Given the description of an element on the screen output the (x, y) to click on. 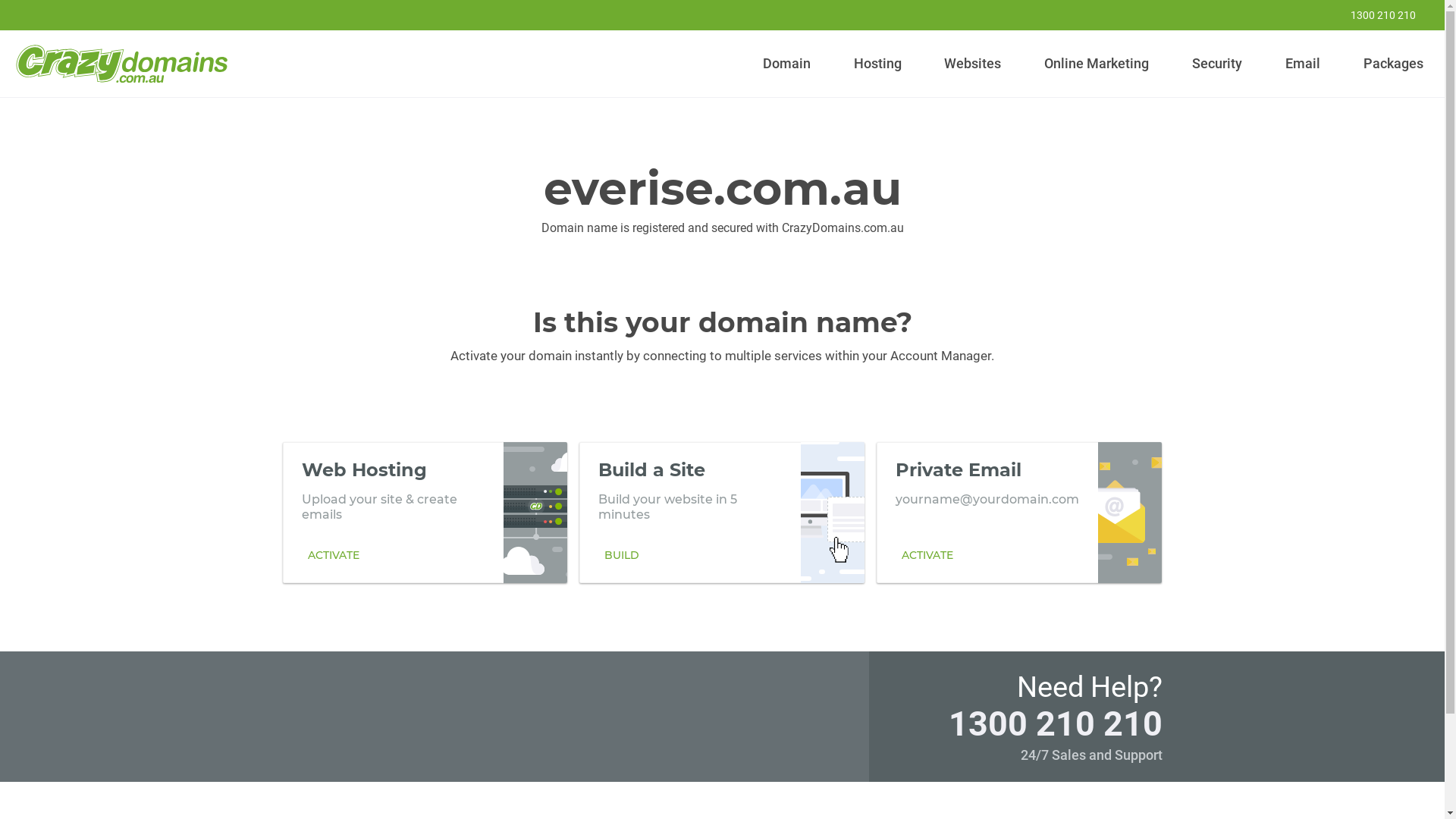
1300 210 210 Element type: text (1054, 723)
Web Hosting
Upload your site & create emails
ACTIVATE Element type: text (424, 511)
Email Element type: text (1302, 63)
Hosting Element type: text (877, 63)
Domain Element type: text (786, 63)
Private Email
yourname@yourdomain.com
ACTIVATE Element type: text (1018, 511)
Security Element type: text (1217, 63)
Build a Site
Build your website in 5 minutes
BUILD Element type: text (721, 511)
Websites Element type: text (972, 63)
Packages Element type: text (1392, 63)
1300 210 210 Element type: text (1373, 15)
Online Marketing Element type: text (1096, 63)
